Given the description of an element on the screen output the (x, y) to click on. 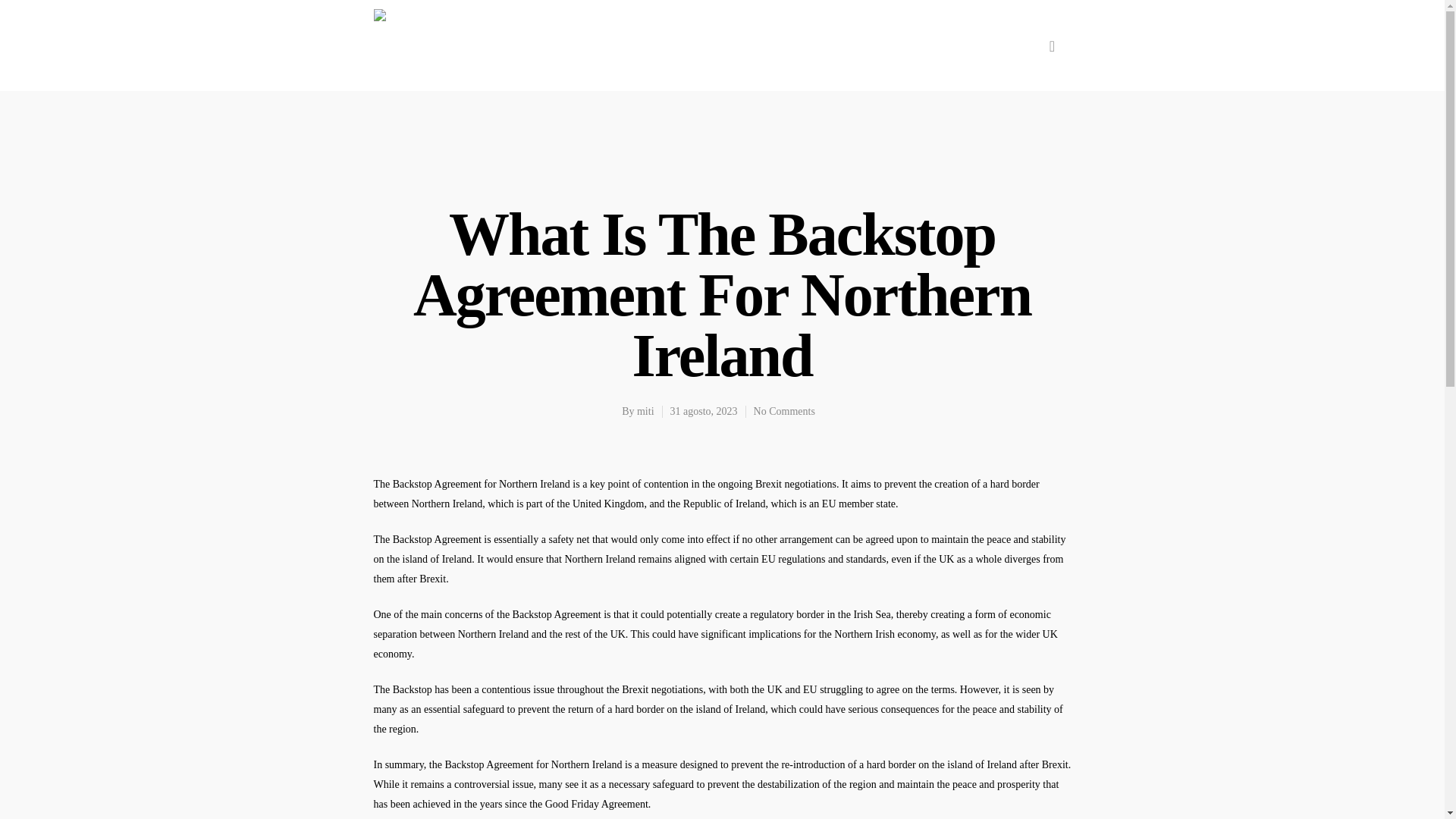
Entradas de miti (645, 410)
No Comments (784, 410)
miti (645, 410)
